Given the description of an element on the screen output the (x, y) to click on. 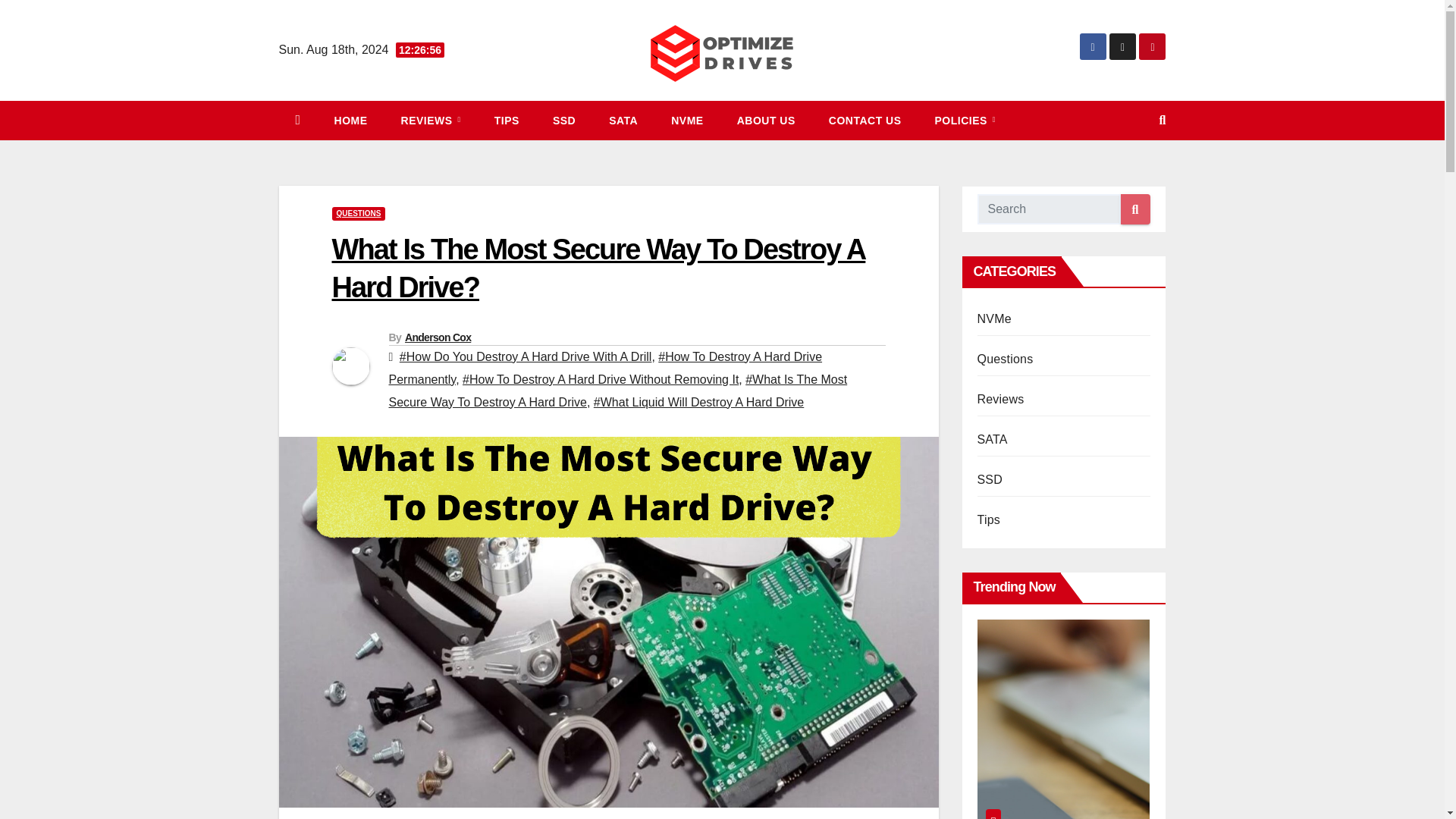
Contact Us (865, 120)
NVME (686, 120)
SATA (622, 120)
About Us (766, 120)
NVMe (686, 120)
HOME (350, 120)
POLICIES (964, 120)
Tips (506, 120)
Anderson Cox (437, 337)
SSD (563, 120)
